Given the description of an element on the screen output the (x, y) to click on. 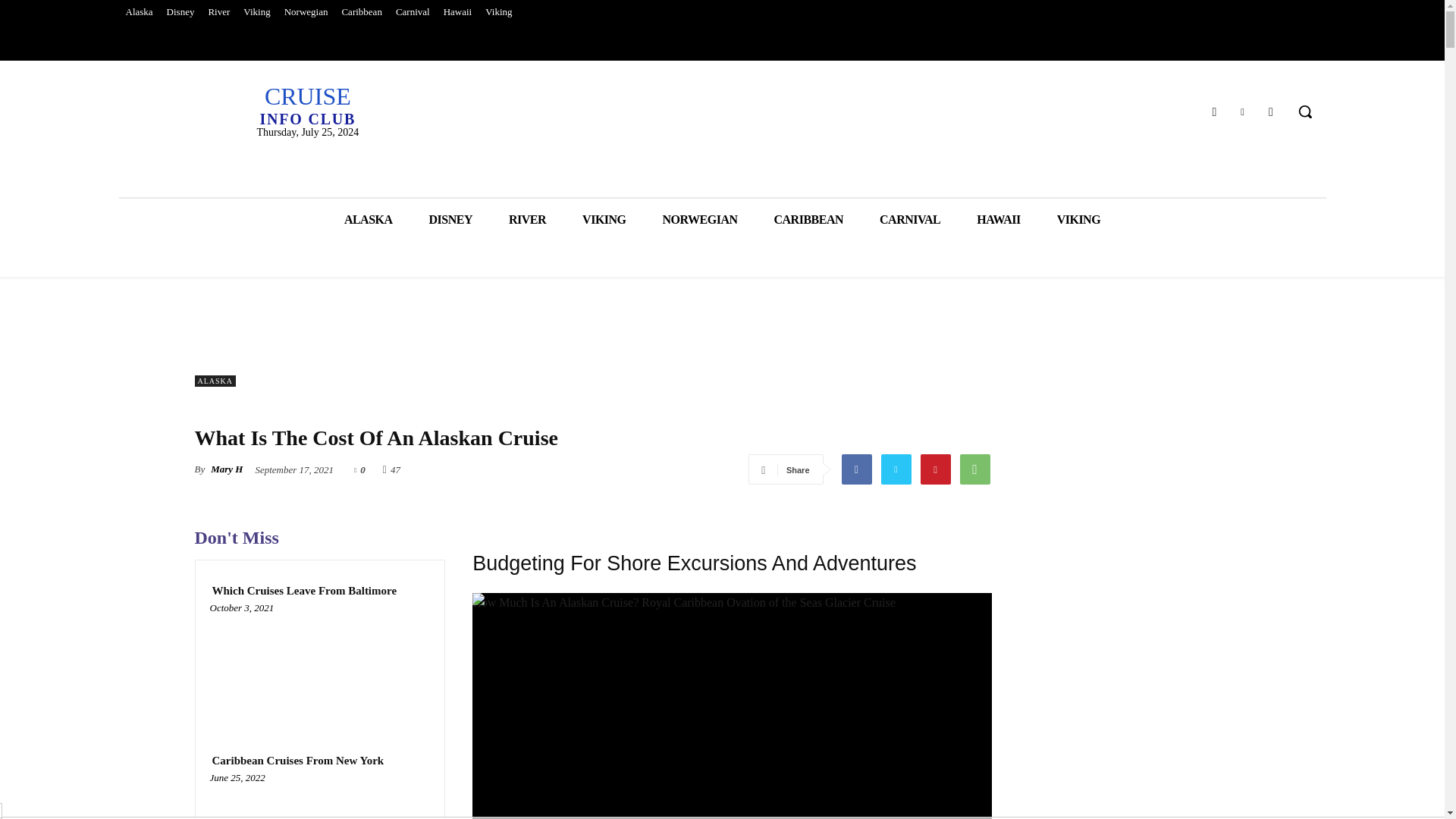
Norwegian (306, 12)
Viking (498, 12)
ALASKA (368, 219)
Hawaii (457, 12)
River (217, 12)
Which Cruises Leave From Baltimore (319, 665)
Alaska (137, 12)
Caribbean Cruises From New York (306, 104)
Pinterest (319, 800)
Carnival (934, 469)
Viking (412, 12)
DISNEY (255, 12)
Twitter (450, 219)
Disney (1241, 111)
